Given the description of an element on the screen output the (x, y) to click on. 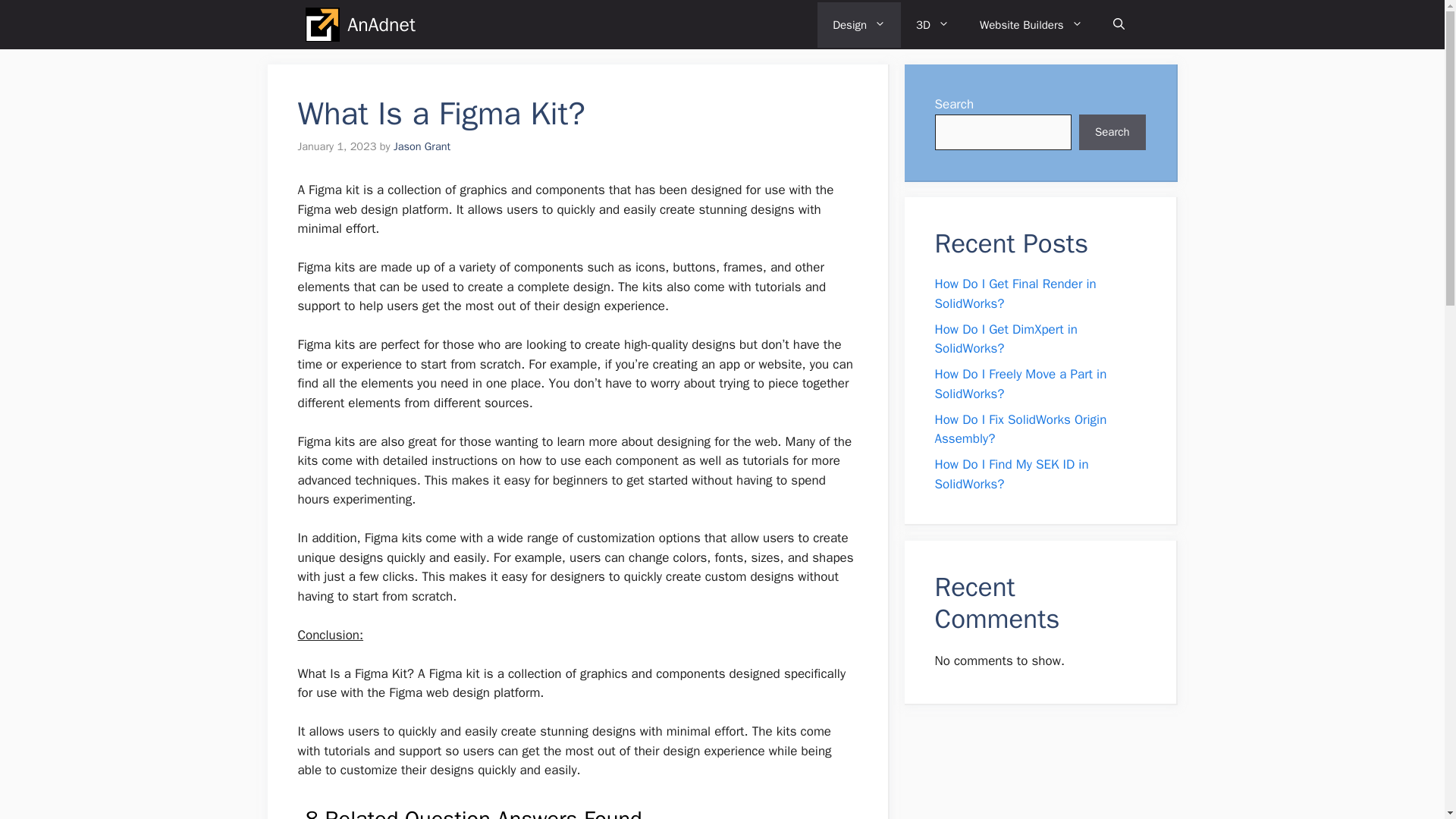
How Do I Get Final Render in SolidWorks? (1015, 294)
How Do I Freely Move a Part in SolidWorks? (1020, 384)
Search (1111, 131)
3D (932, 23)
Jason Grant (421, 146)
View all posts by Jason Grant (421, 146)
Design (858, 23)
How Do I Find My SEK ID in SolidWorks? (1010, 474)
How Do I Get DimXpert in SolidWorks? (1005, 339)
AnAdnet (380, 24)
